Given the description of an element on the screen output the (x, y) to click on. 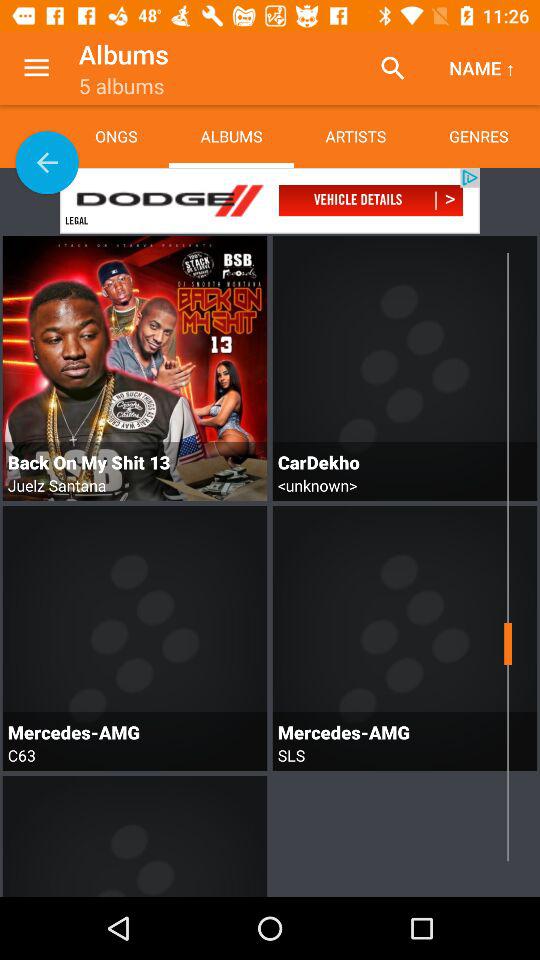
go back (47, 162)
